Given the description of an element on the screen output the (x, y) to click on. 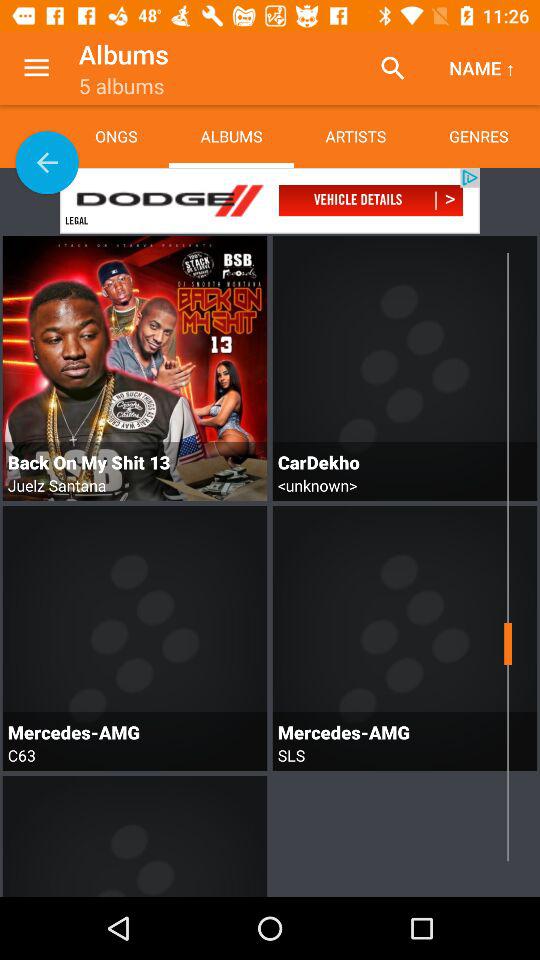
go back (47, 162)
